Given the description of an element on the screen output the (x, y) to click on. 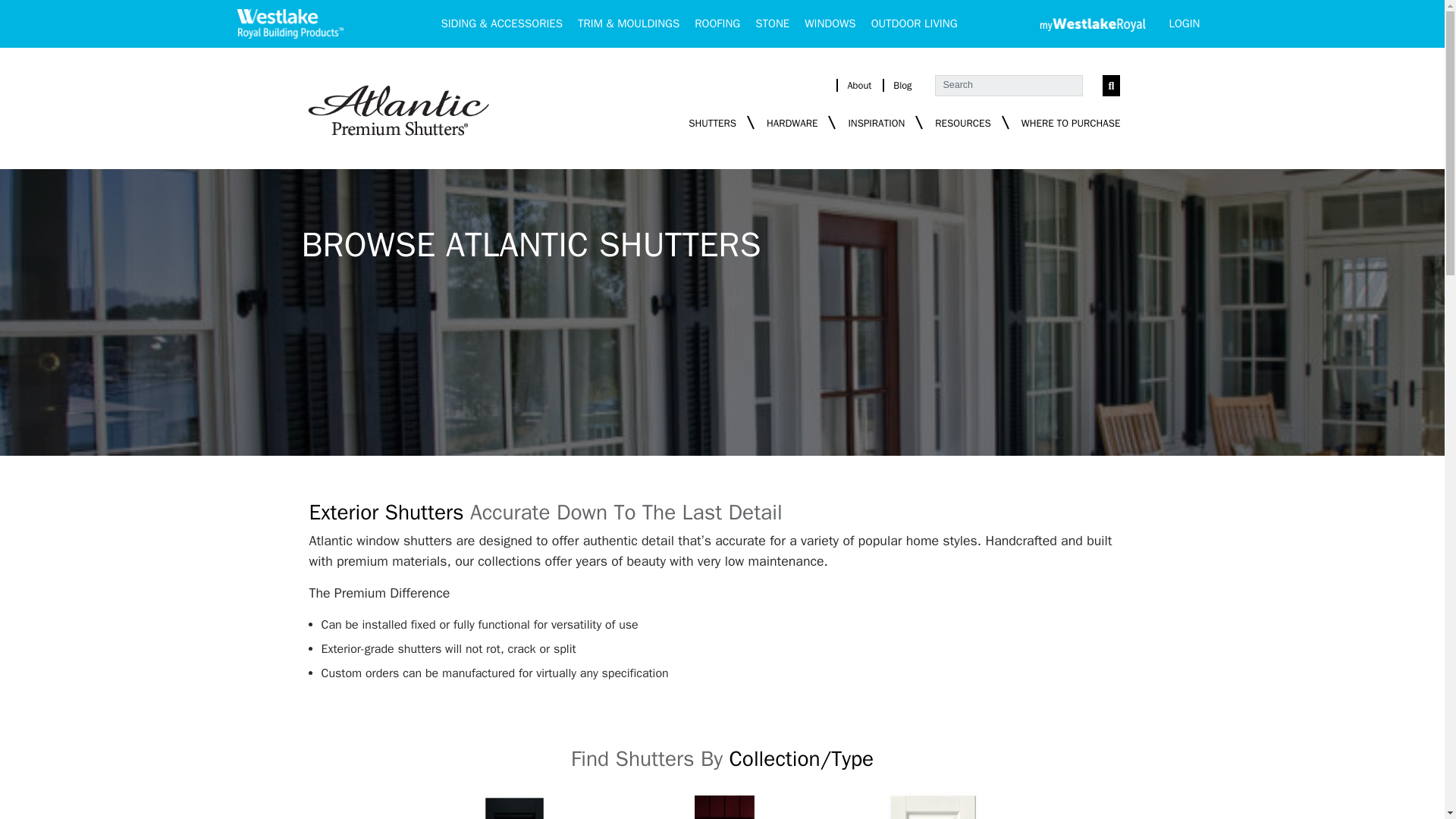
Blog (902, 85)
HARDWARE (791, 123)
LOGIN (1183, 23)
INSPIRATION (875, 123)
STONE (772, 23)
SHUTTERS (712, 123)
WINDOWS (829, 23)
About (858, 85)
OUTDOOR LIVING (914, 23)
ROOFING (717, 23)
